Given the description of an element on the screen output the (x, y) to click on. 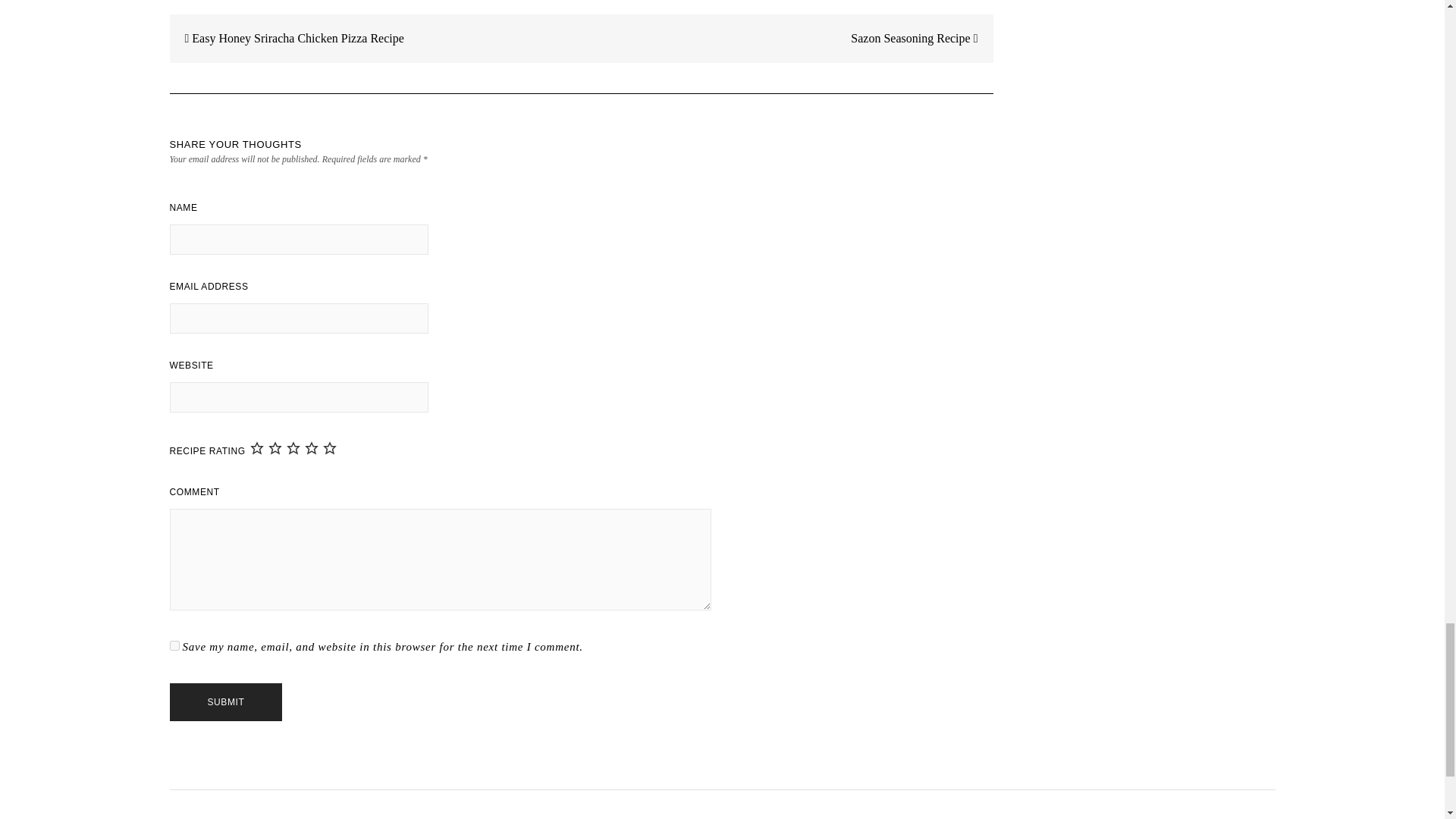
Submit (226, 702)
yes (174, 645)
